Given the description of an element on the screen output the (x, y) to click on. 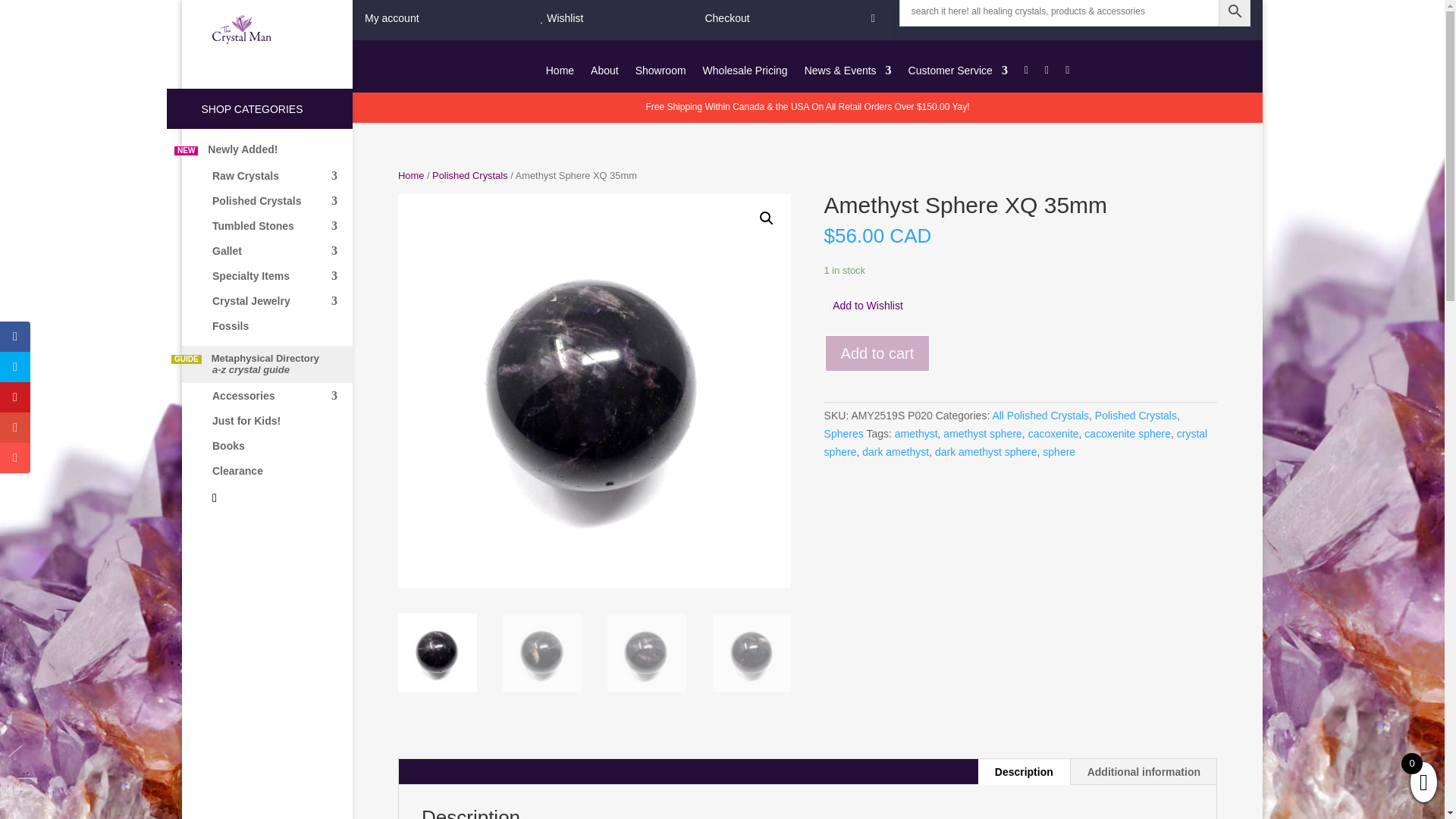
Newly Added! (282, 157)
SHOP CATEGORIES (259, 108)
Wishlist (561, 18)
Polished Crystals (282, 207)
My account (392, 18)
Tumbled Stones (282, 232)
Raw Crystals (282, 182)
Checkout (726, 18)
